Given the description of an element on the screen output the (x, y) to click on. 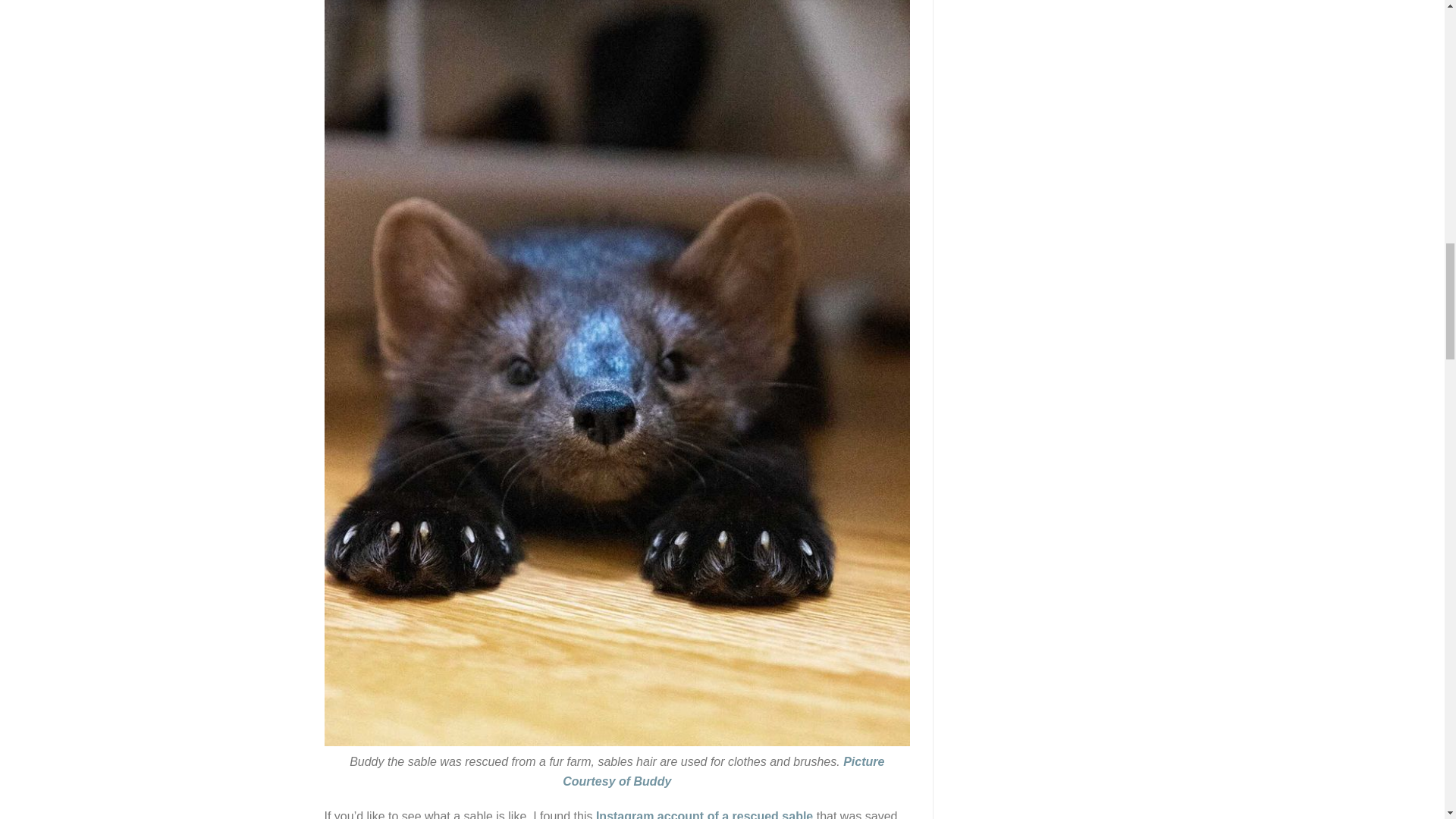
Instagram account of a rescued sable (703, 814)
Picture Courtesy of Buddy (722, 771)
